Given the description of an element on the screen output the (x, y) to click on. 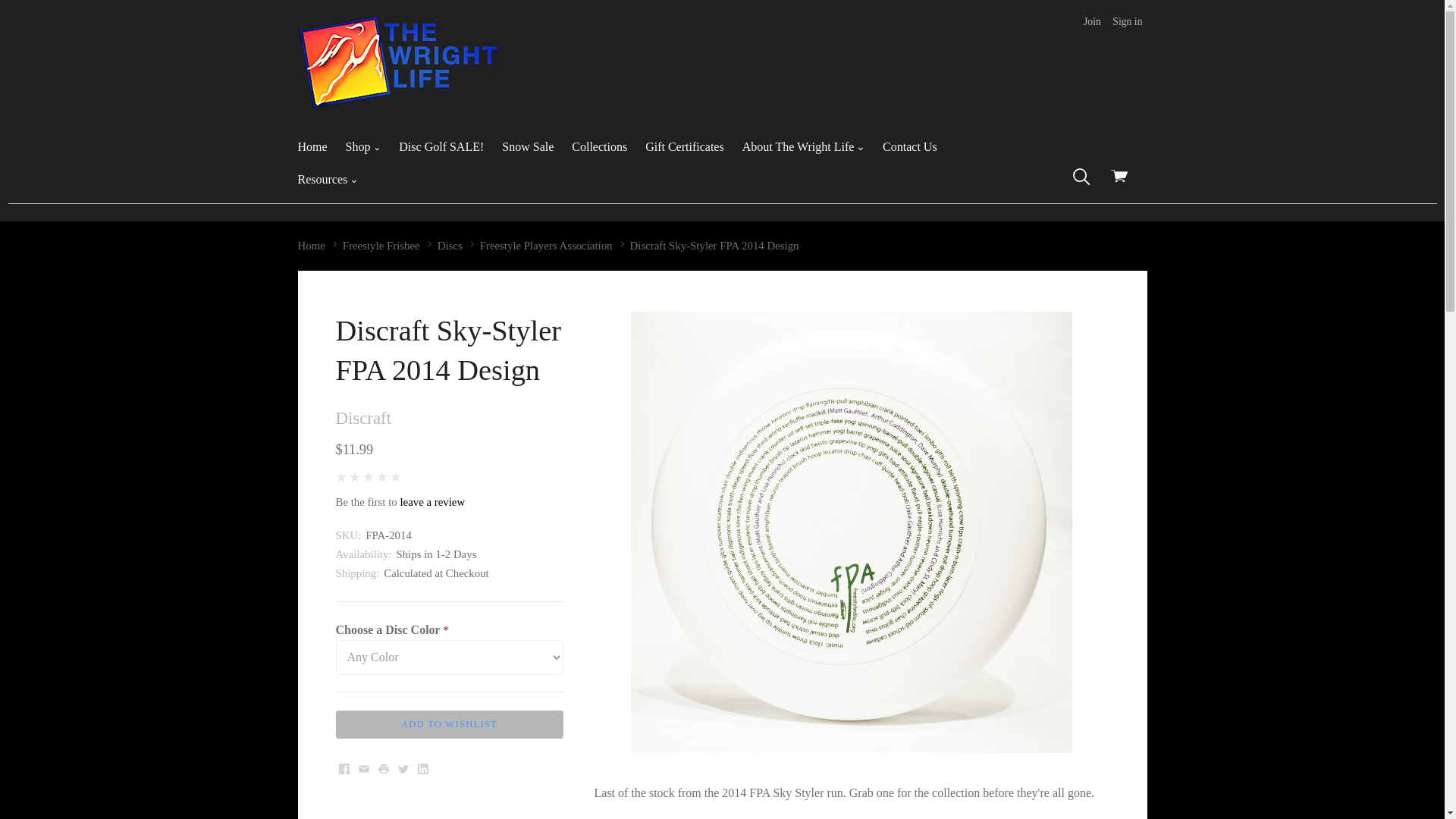
View cart (1123, 179)
View cart (1123, 179)
Home (312, 147)
Shop (363, 147)
Sign in (1127, 22)
Join (1091, 22)
